Given the description of an element on the screen output the (x, y) to click on. 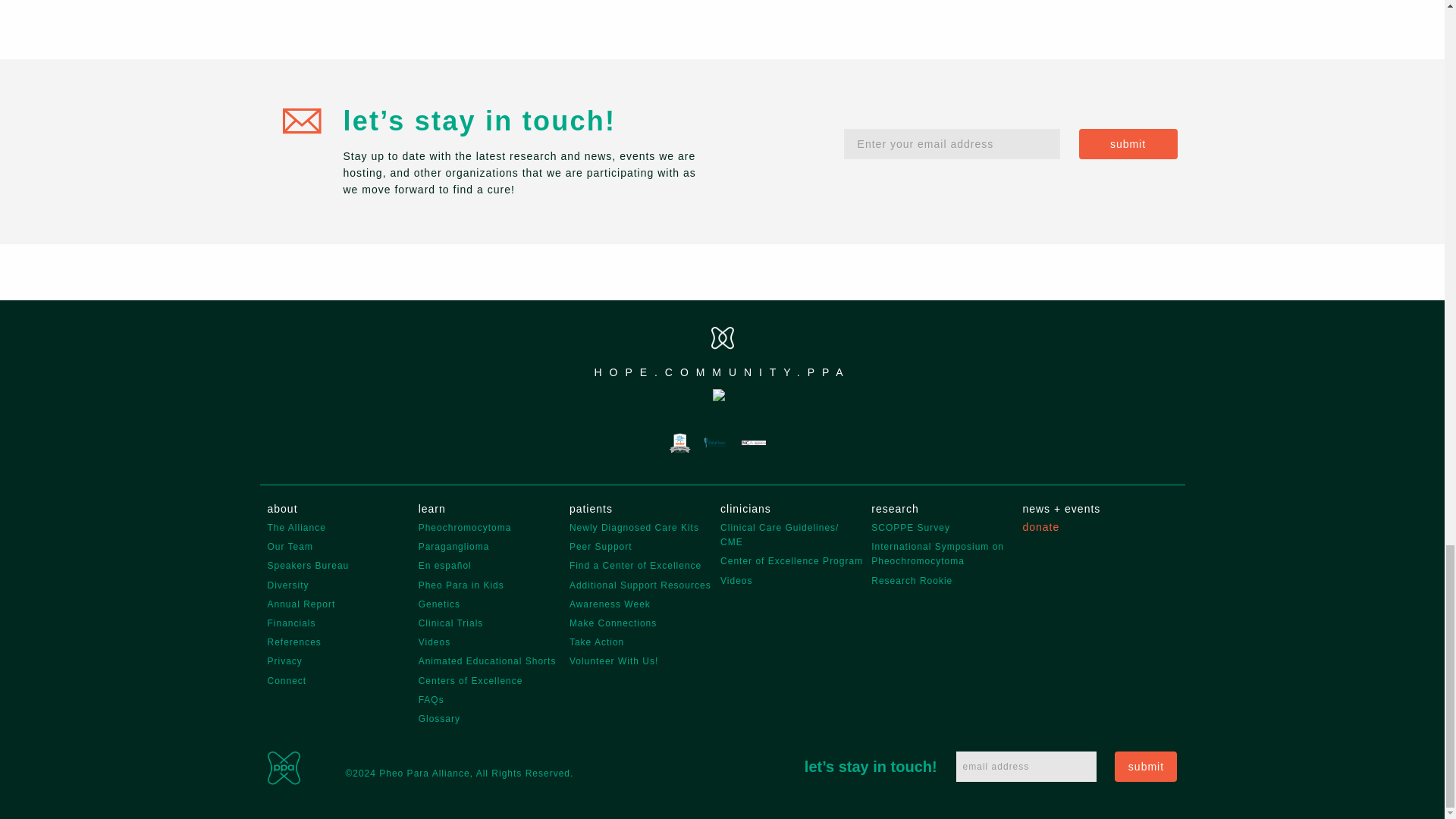
Submit (1145, 766)
Pheo Para Alliance (282, 767)
Submit (1127, 143)
